Given the description of an element on the screen output the (x, y) to click on. 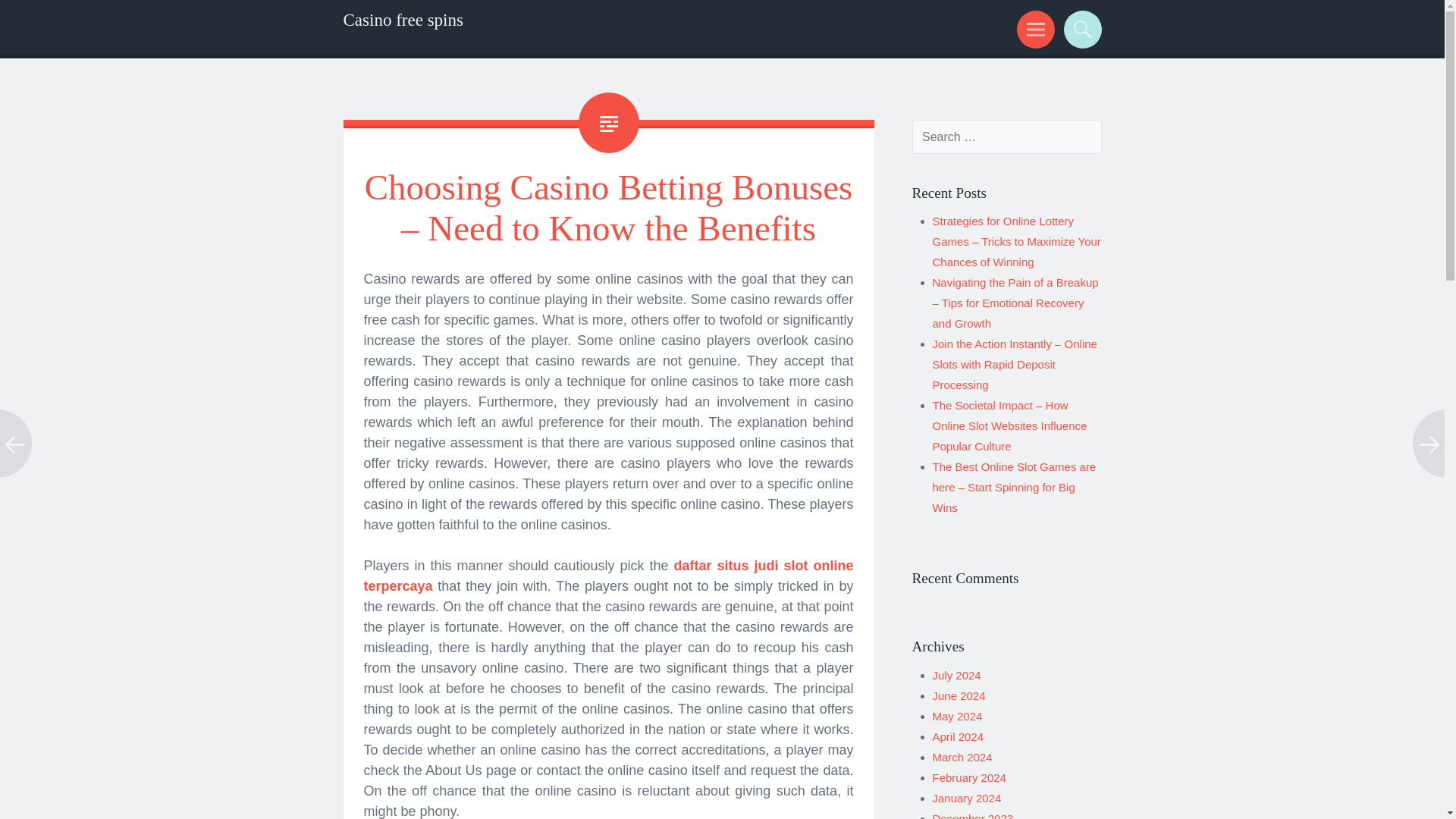
February 2024 (969, 777)
July 2024 (957, 675)
March 2024 (962, 757)
Search (1080, 29)
Menu (1032, 29)
Casino free spins (402, 19)
June 2024 (959, 695)
April 2024 (958, 736)
January 2024 (967, 797)
daftar situs judi slot online terpercaya (608, 575)
December 2023 (973, 815)
May 2024 (957, 716)
